Given the description of an element on the screen output the (x, y) to click on. 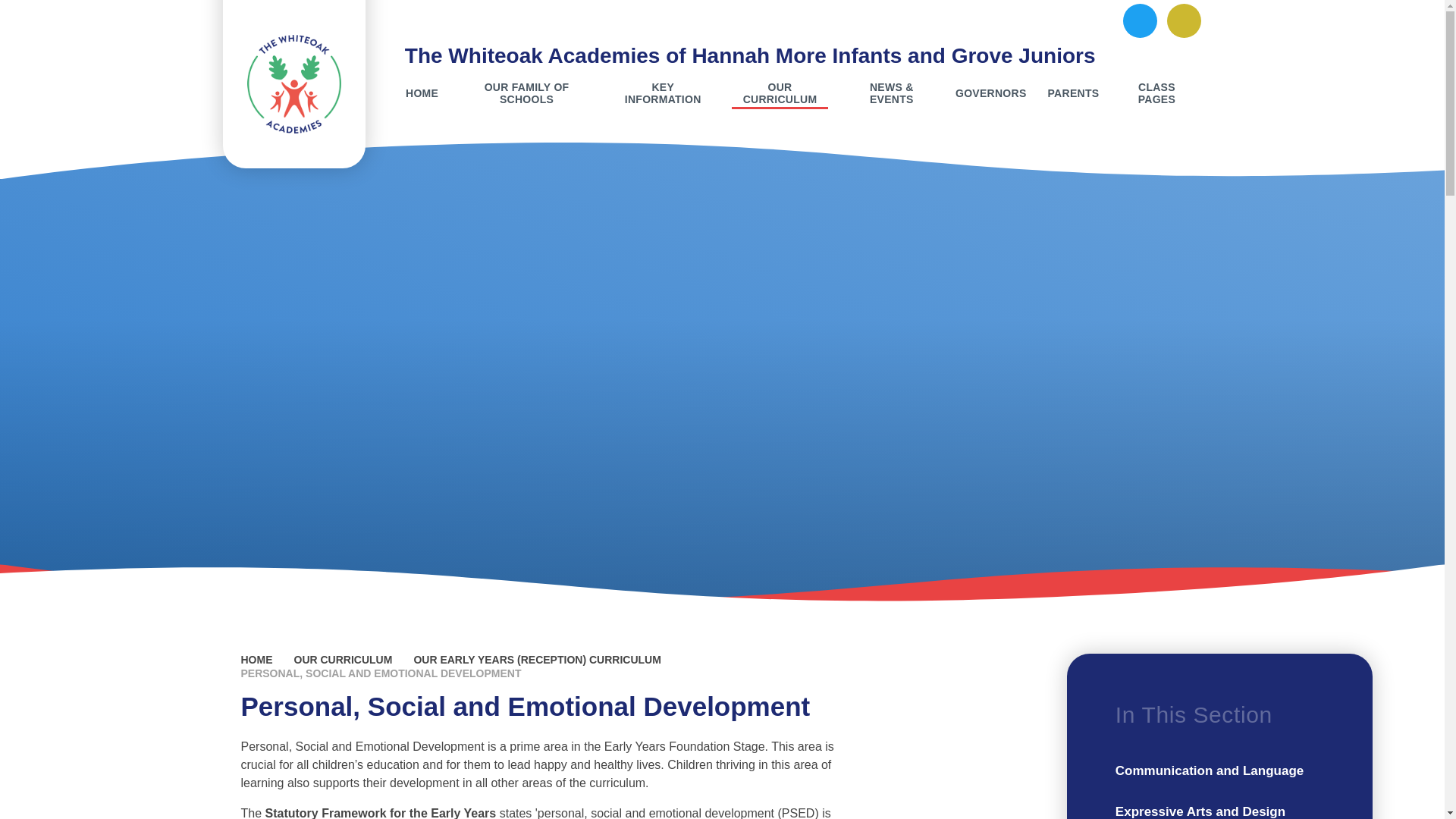
OUR FAMILY OF SCHOOLS (526, 92)
KEY INFORMATION (663, 92)
HOME (421, 92)
